Given the description of an element on the screen output the (x, y) to click on. 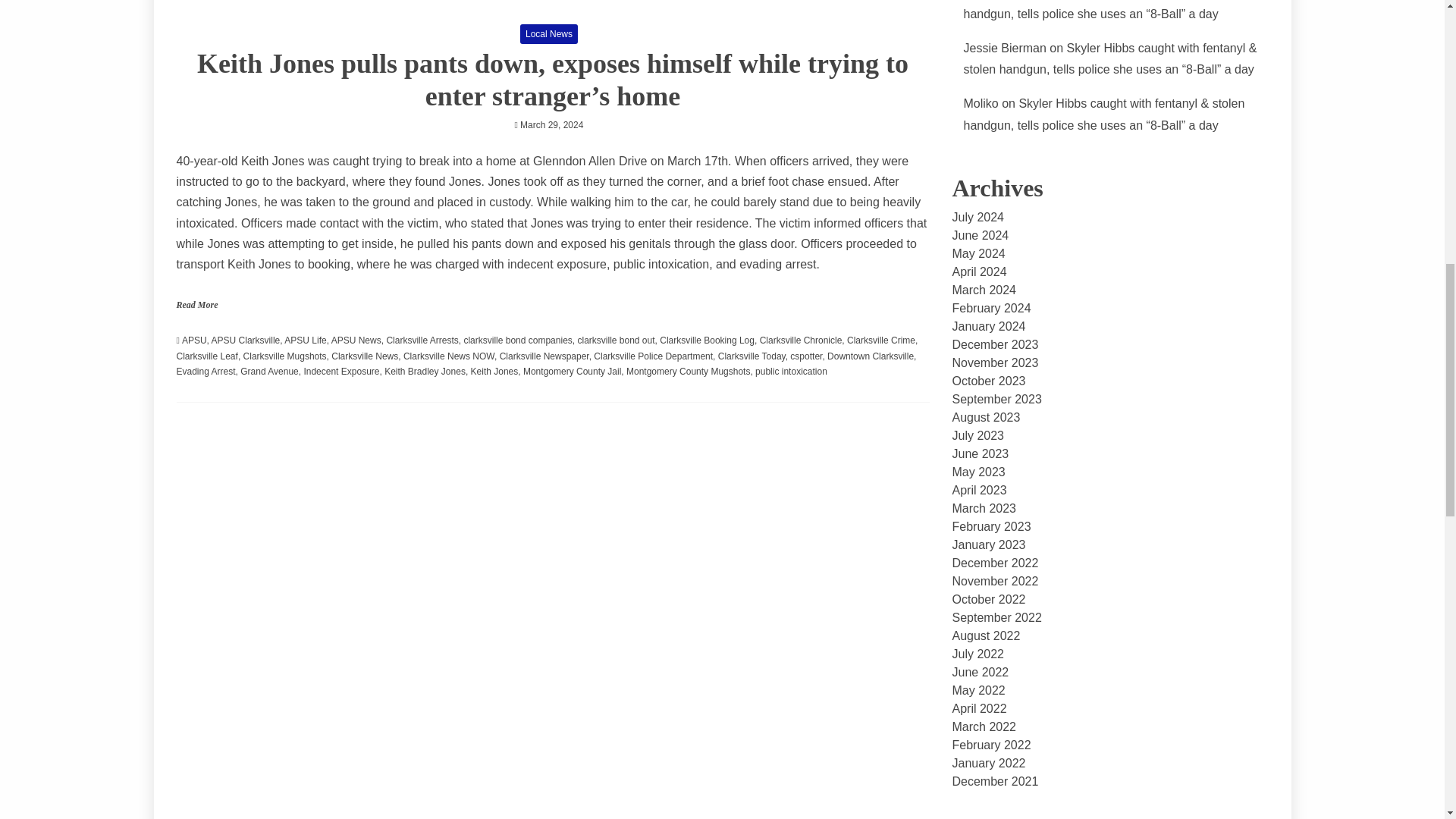
clarksville bond companies (517, 339)
APSU News (356, 339)
Clarksville Chronicle (801, 339)
Clarksville Police Department (653, 356)
Evading Arrest (205, 371)
Clarksville News (364, 356)
Clarksville Booking Log (706, 339)
Downtown Clarksville (870, 356)
APSU Life (304, 339)
Clarksville Newspaper (544, 356)
Clarksville News NOW (449, 356)
Grand Avenue (269, 371)
APSU (194, 339)
Read More (196, 304)
Clarksville Today (751, 356)
